Given the description of an element on the screen output the (x, y) to click on. 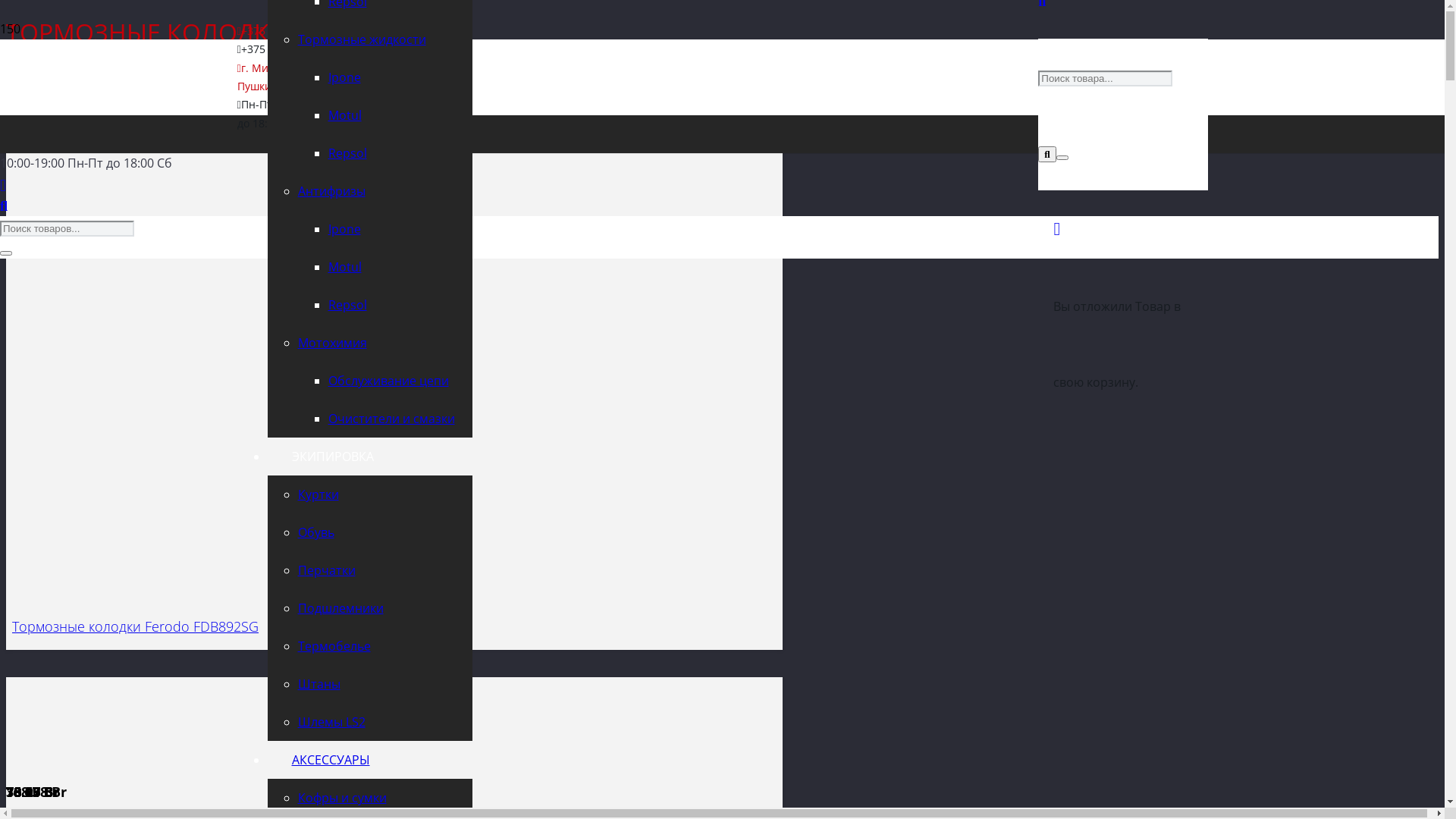
Motul Element type: text (343, 266)
Repsol Element type: text (346, 152)
Motul Element type: text (343, 114)
Repsol Element type: text (346, 304)
Ipone Element type: text (343, 77)
Ipone Element type: text (343, 228)
